Given the description of an element on the screen output the (x, y) to click on. 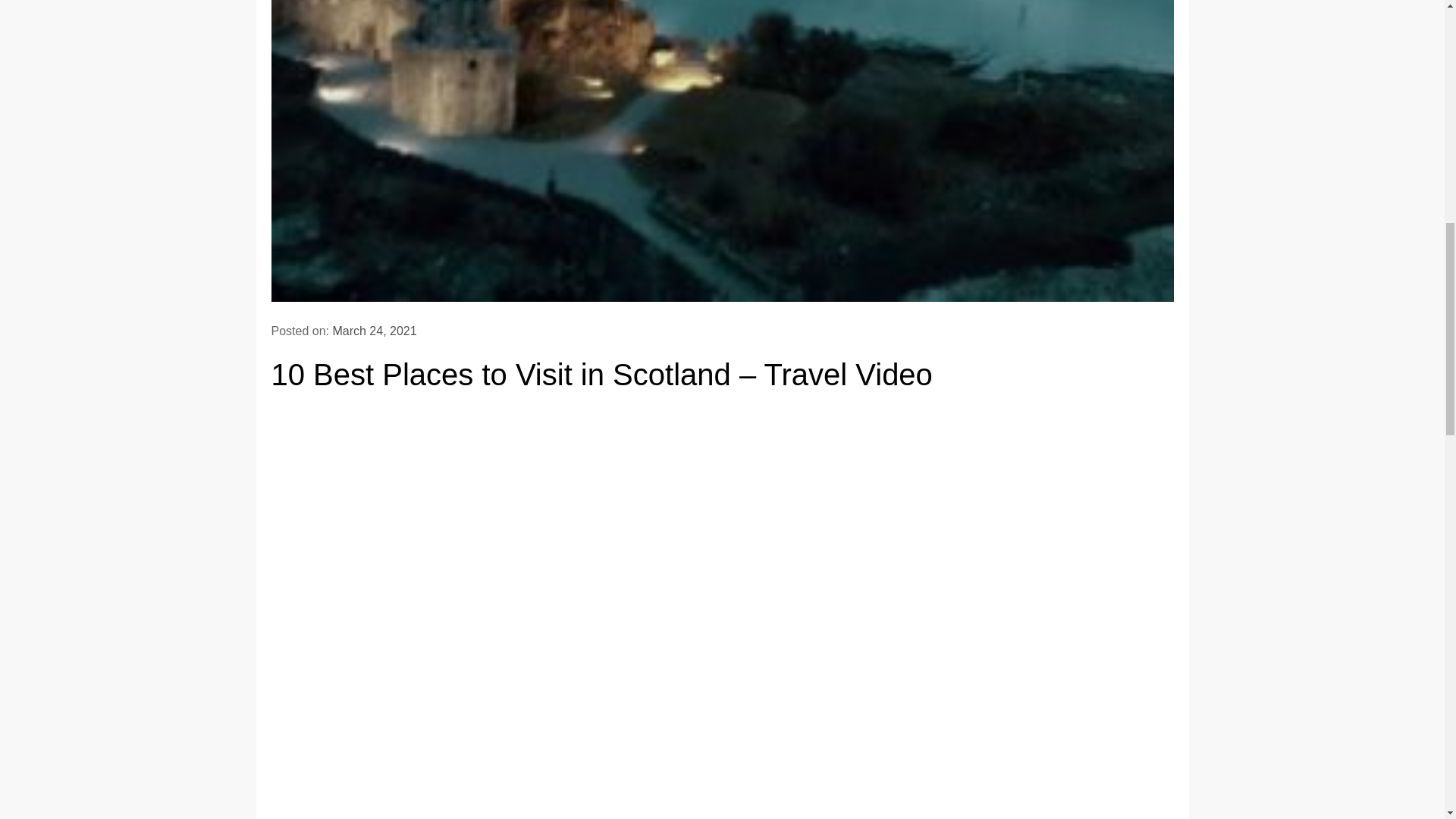
March 24, 2021 (373, 330)
